Given the description of an element on the screen output the (x, y) to click on. 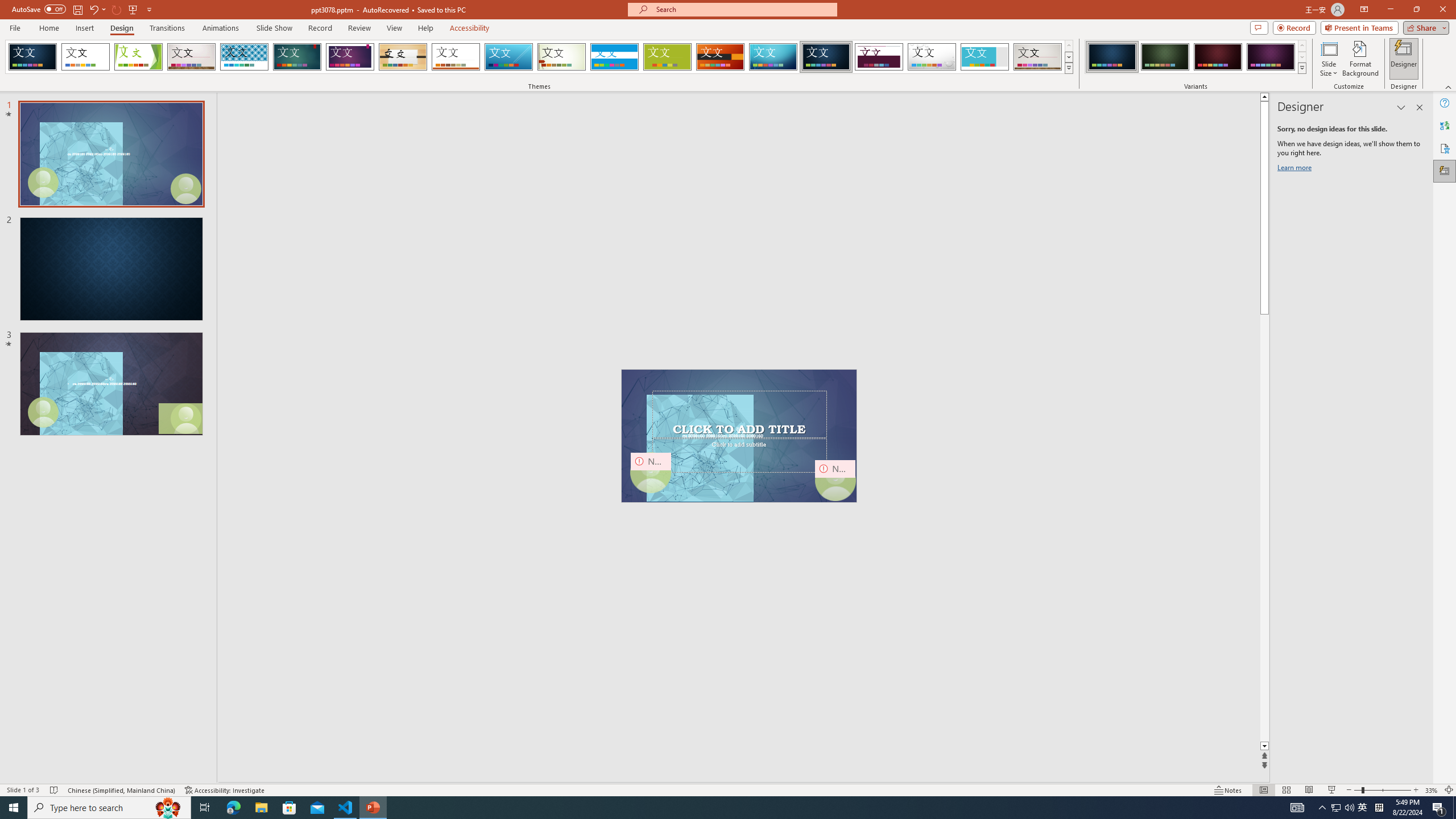
Gallery (1037, 56)
Retrospect (455, 56)
